Given the description of an element on the screen output the (x, y) to click on. 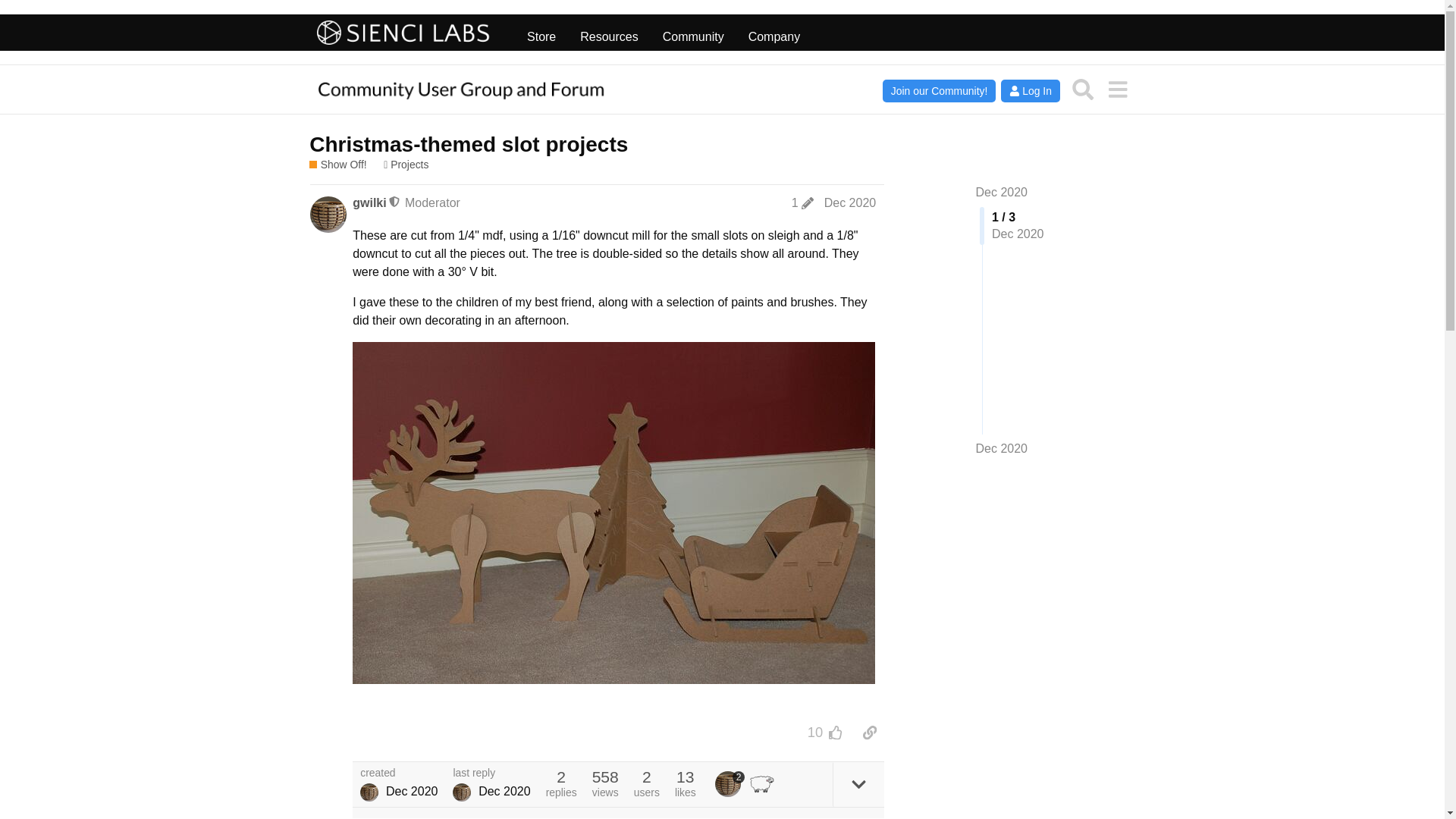
menu (1117, 89)
Please sign up or log in to like this post (836, 732)
Jump to the first post (1001, 192)
Post date (850, 202)
Store (541, 32)
Search (1082, 89)
Sienci Labs (403, 32)
Community (692, 32)
post last edited on Aug 26, 2021 9:38 am (802, 202)
Show Off! (337, 164)
Resources (608, 32)
Dec 2020 (1001, 192)
Company (773, 32)
